Given the description of an element on the screen output the (x, y) to click on. 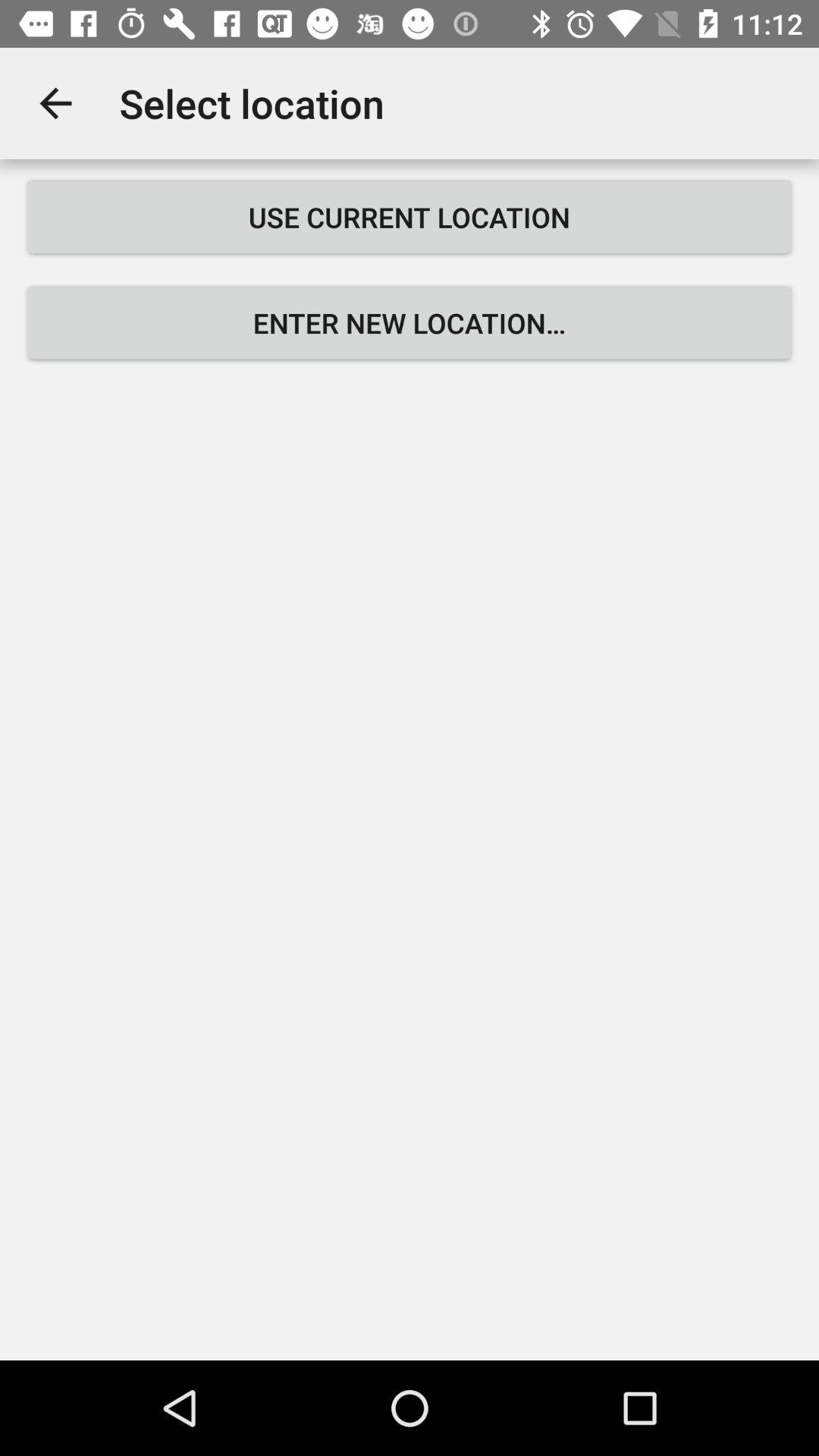
choose icon above the use current location icon (55, 103)
